Given the description of an element on the screen output the (x, y) to click on. 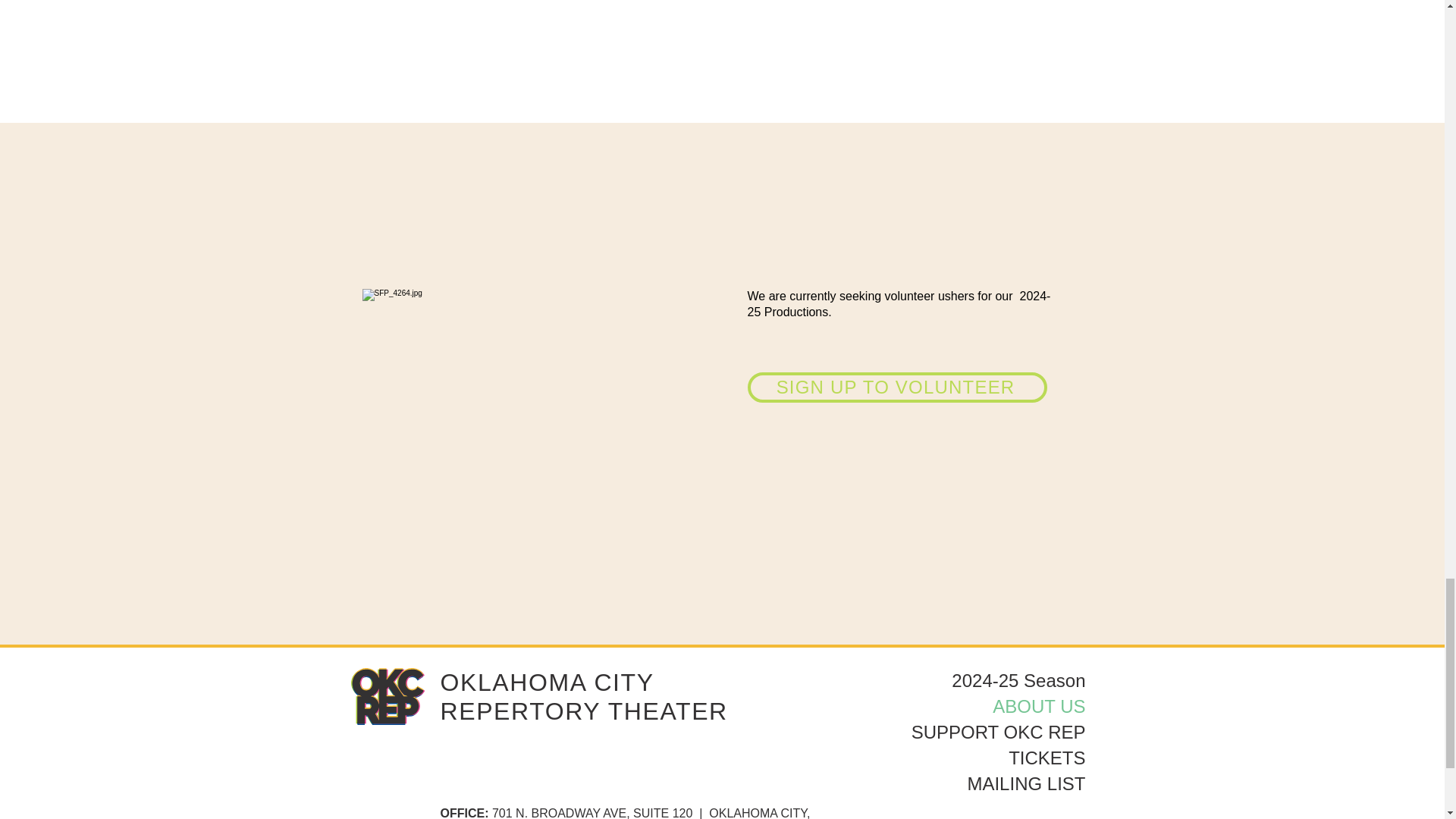
2024-25 Season (998, 680)
SIGN UP TO VOLUNTEER (897, 387)
ABOUT US (998, 706)
